Given the description of an element on the screen output the (x, y) to click on. 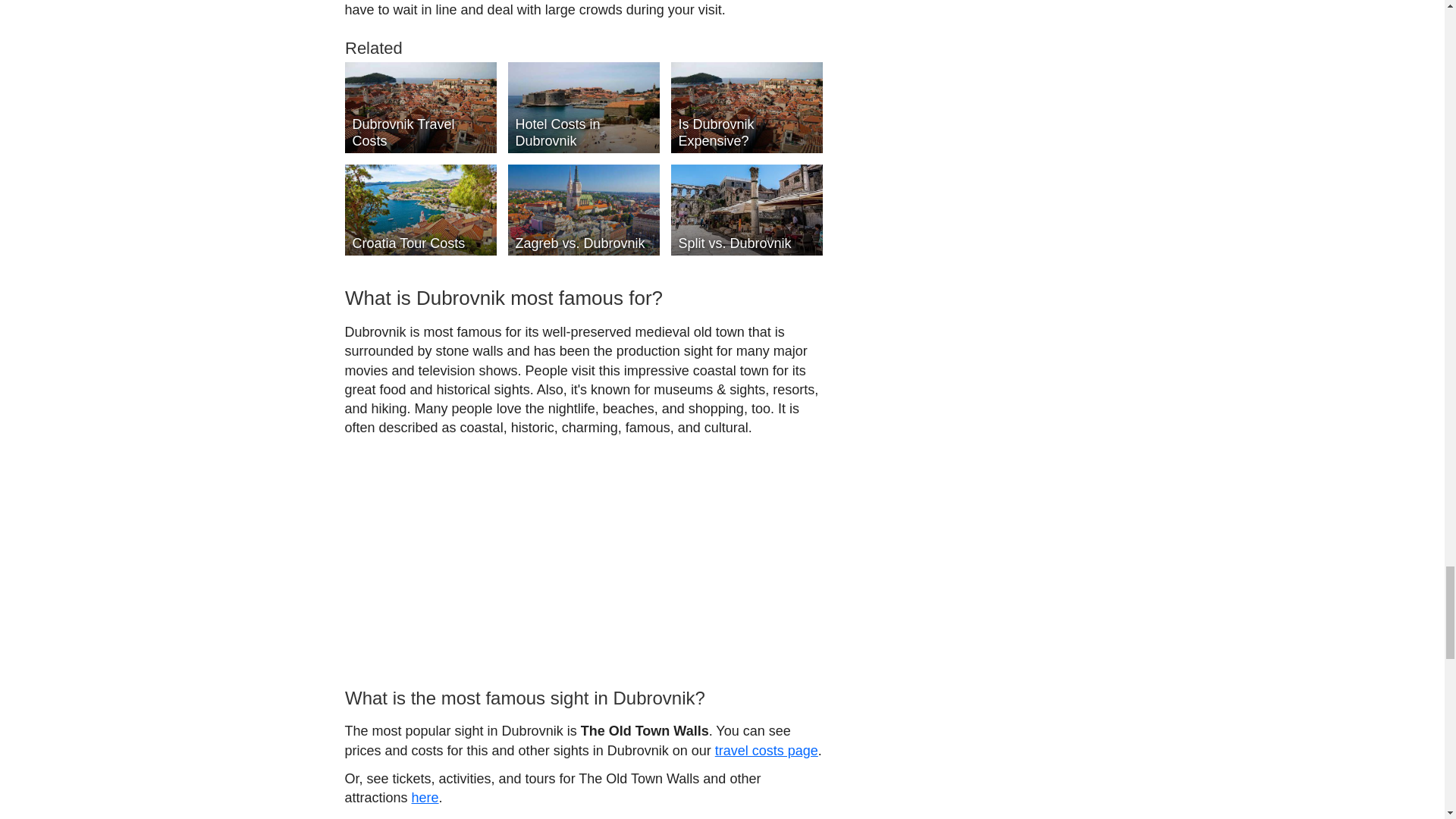
Should I spend 3, 4, or 5 days in Dubrovnik? (582, 701)
Should I spend 1, 2, or 3 days in Dubrovnik? (636, 692)
here (425, 166)
Should I spend 1 or 2 weeks in Dubrovnik? (565, 720)
travel costs page (766, 119)
